Given the description of an element on the screen output the (x, y) to click on. 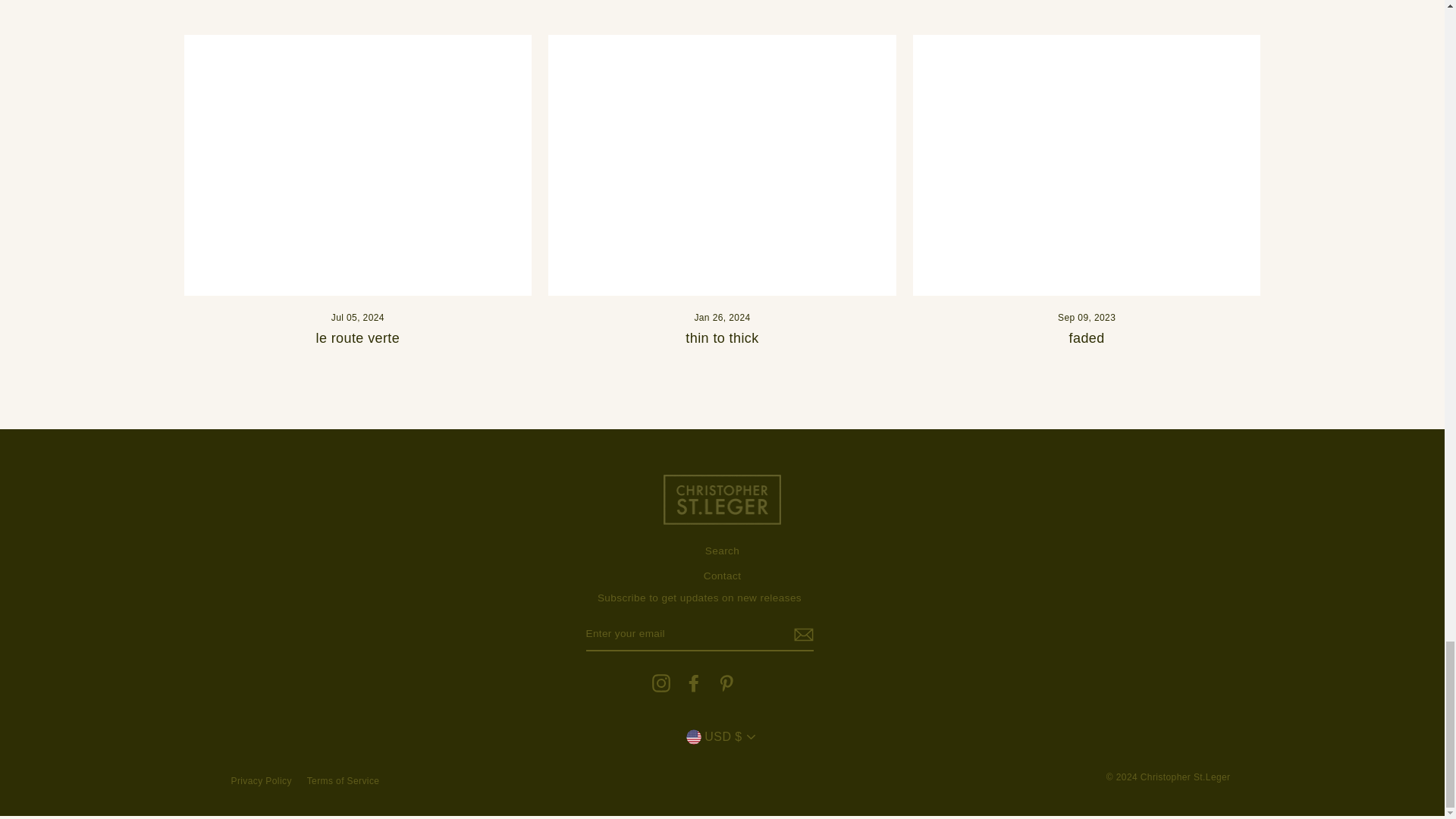
Christopher St.Leger on Facebook (693, 683)
Christopher St.Leger on Pinterest (726, 683)
Christopher St.Leger on Instagram (660, 683)
